Given the description of an element on the screen output the (x, y) to click on. 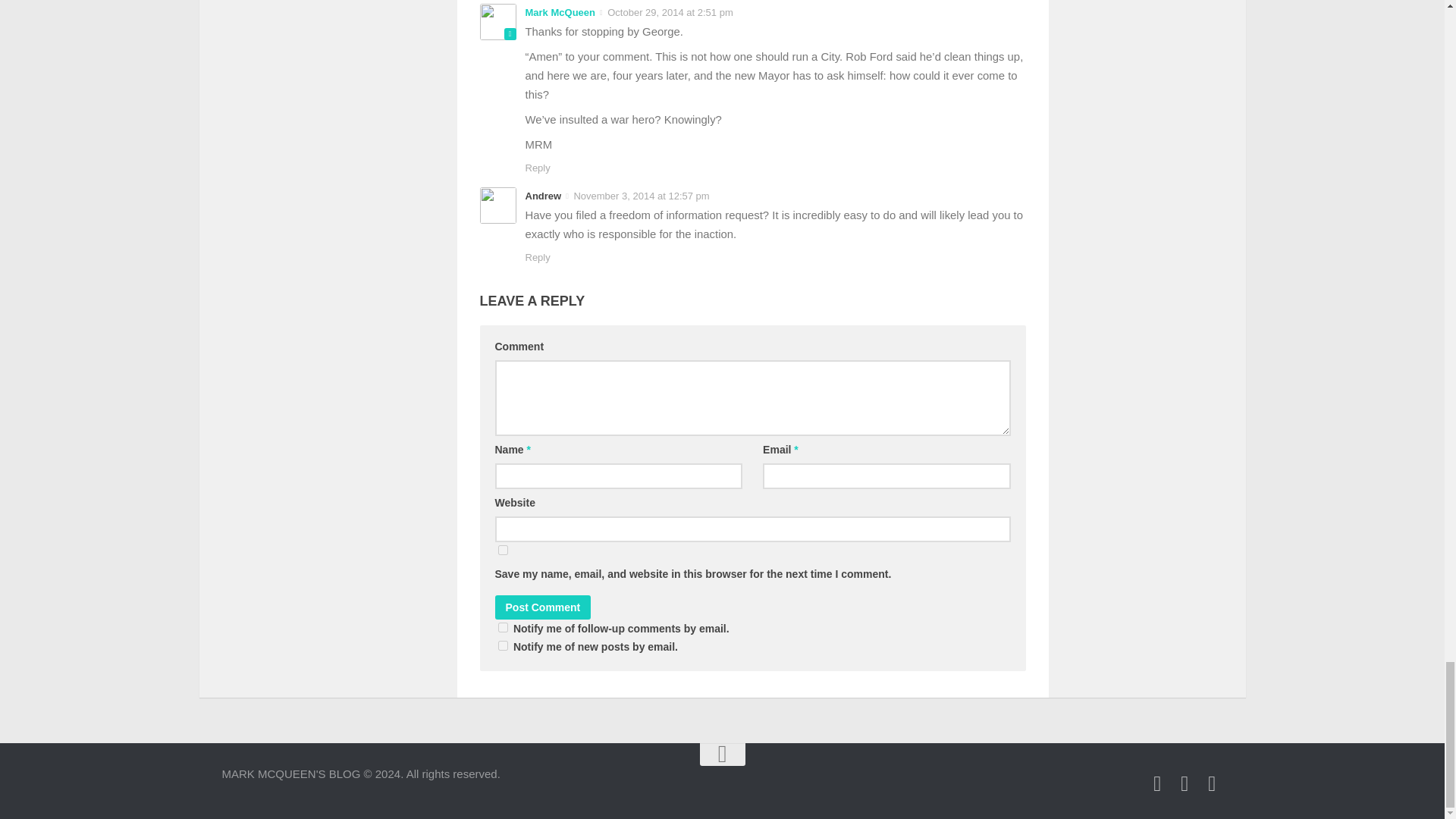
Post Comment (543, 607)
Post Comment (543, 607)
Mark McQueen (559, 12)
Add Mark McQueen on Linkedin (1184, 783)
subscribe (501, 627)
Reply (537, 256)
Reply (537, 167)
November 3, 2014 at 12:57 pm (640, 195)
Subscribe to MARK MCQUEEN'S BLOG (1212, 783)
October 29, 2014 at 2:51 pm (669, 12)
subscribe (501, 645)
Follow Mark McQueen on Twitter (1157, 783)
yes (501, 550)
